Given the description of an element on the screen output the (x, y) to click on. 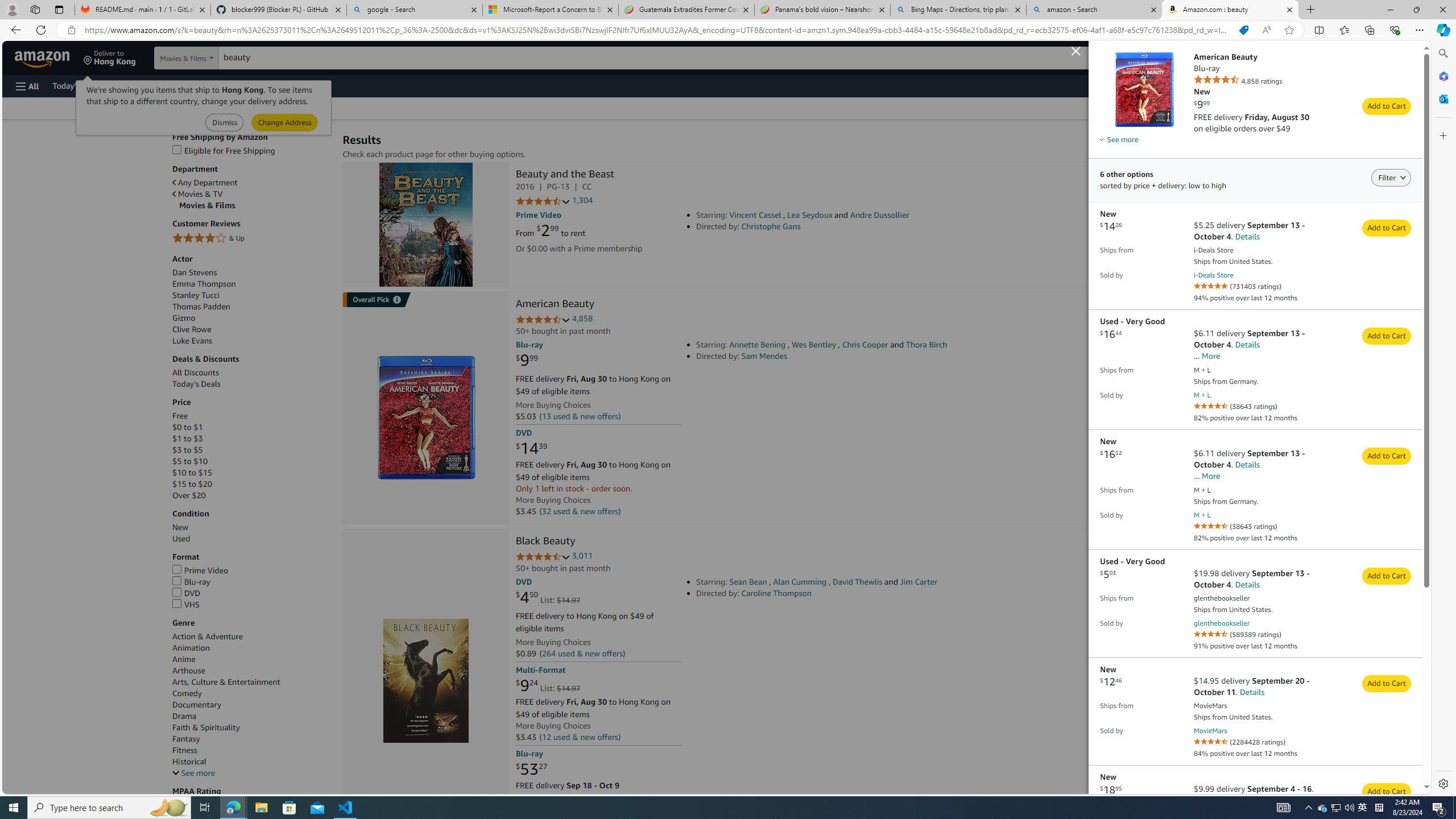
Christophe Gans (770, 226)
Quantity Selector (1383, 245)
View site information (70, 29)
Emma Thompson (203, 283)
Deliver to Hong Kong (109, 57)
Thomas Padden (251, 307)
Arts, Culture & Entertainment (226, 681)
$15 to $20 (251, 483)
Add to Cart from seller i-Deals Store and price $14.26  (1386, 228)
Refresh (40, 29)
Skip to main search results (50, 788)
